Given the description of an element on the screen output the (x, y) to click on. 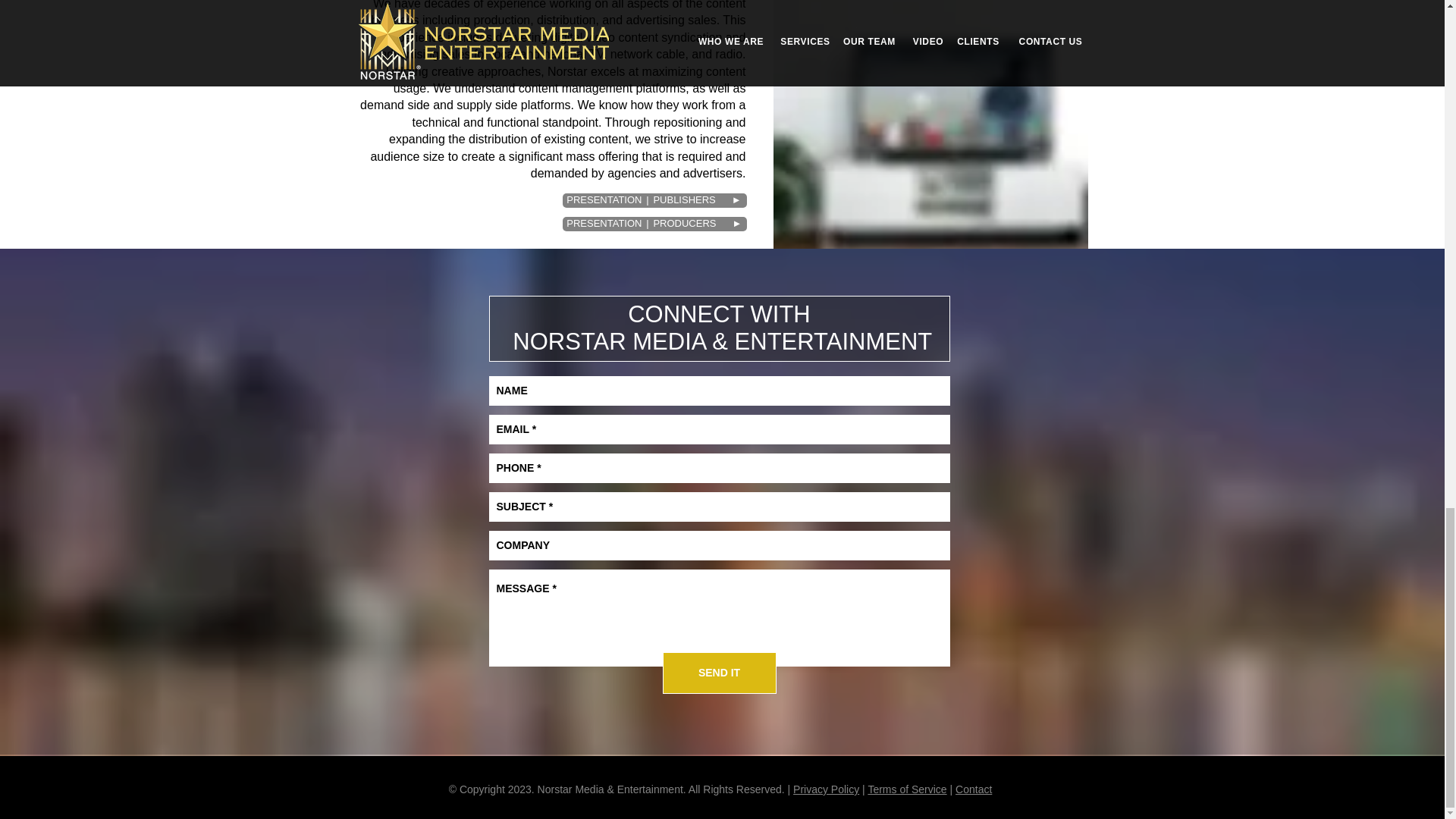
Privacy Policy (826, 788)
Terms of Service (906, 788)
SEND IT (719, 672)
Contact (973, 788)
